Given the description of an element on the screen output the (x, y) to click on. 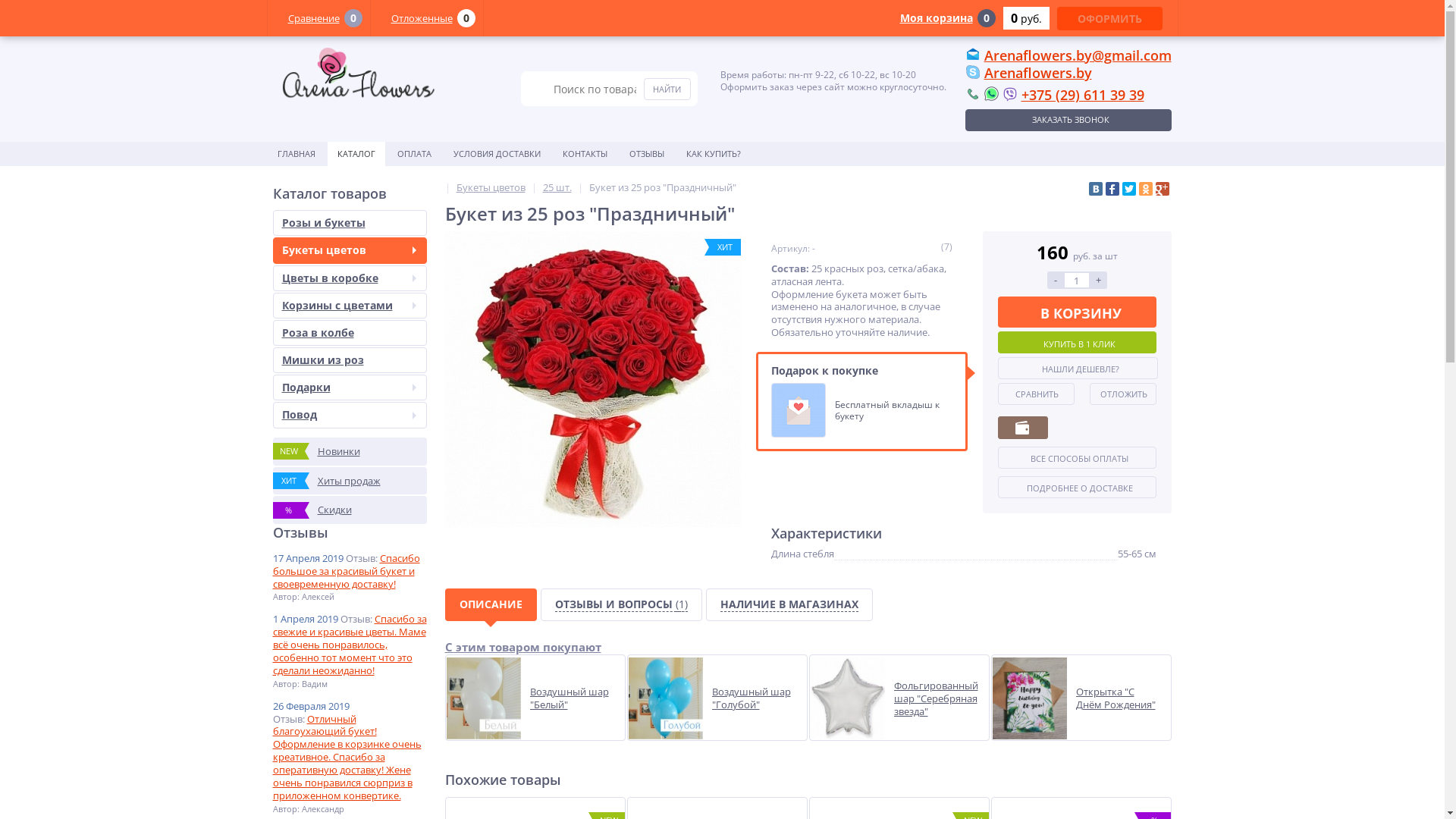
+ Element type: text (1098, 279)
Arenaflowers.by@gmail.com Element type: text (1077, 55)
Twitter Element type: hover (1128, 188)
Arenaflowers.by Element type: text (1038, 72)
- Element type: text (1054, 279)
42.png Element type: hover (357, 75)
Google Plus Element type: hover (1162, 188)
+375 (29) 611 39 39 Element type: text (1081, 94)
Facebook Element type: hover (1112, 188)
